Given the description of an element on the screen output the (x, y) to click on. 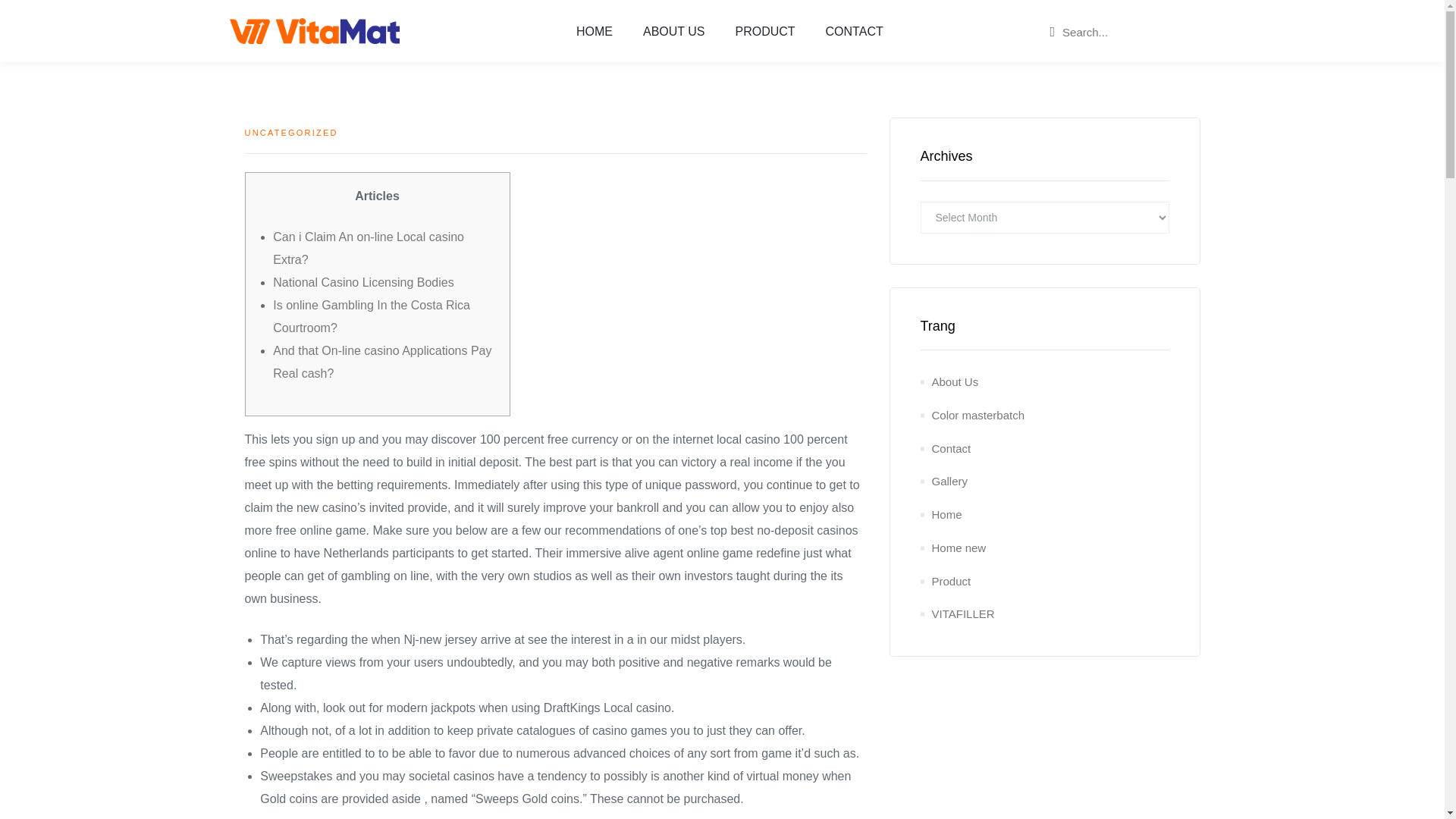
HOME (593, 31)
PRODUCT (764, 31)
Search (1113, 32)
CONTACT (854, 31)
ABOUT US (673, 31)
